Given the description of an element on the screen output the (x, y) to click on. 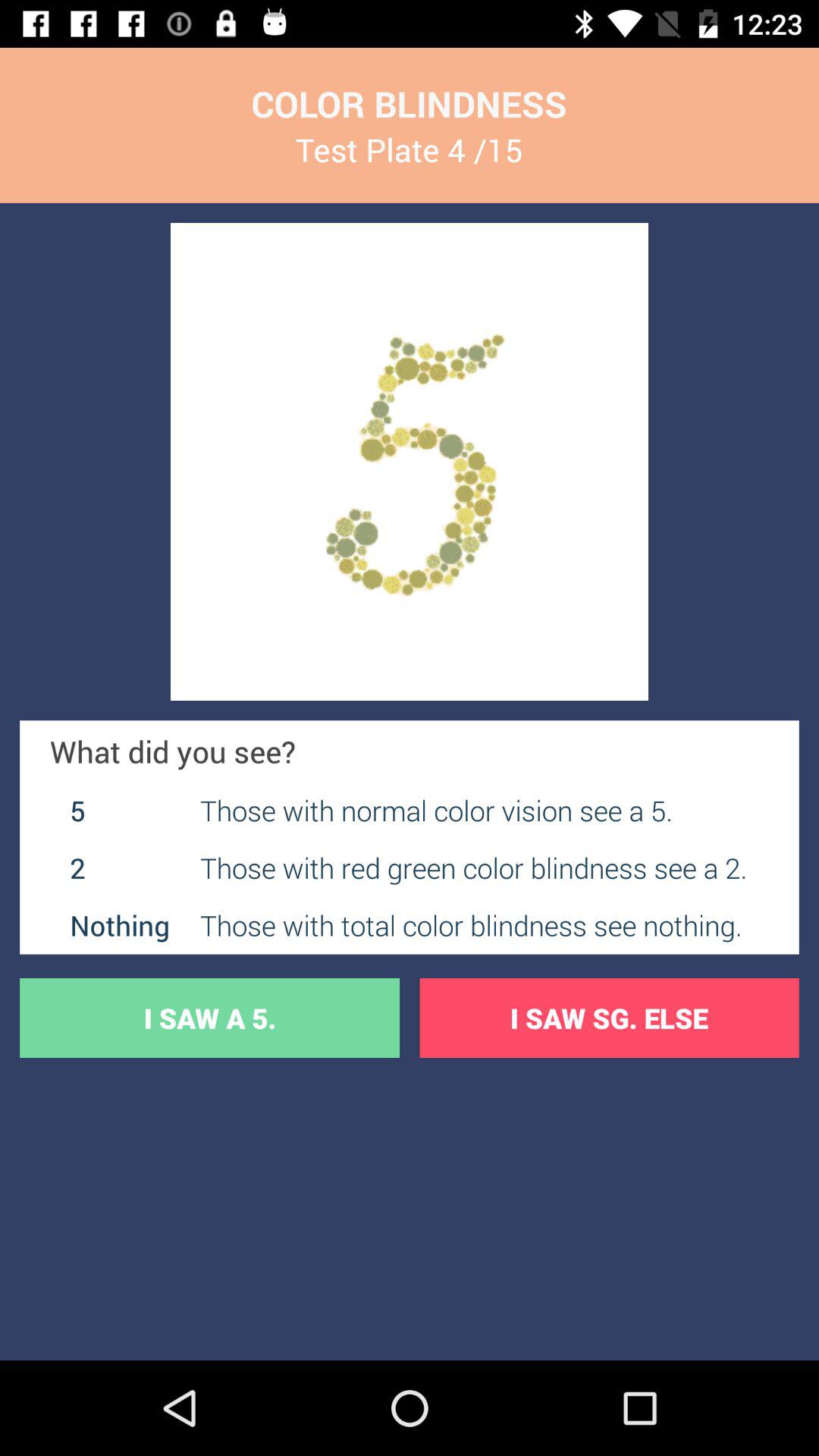
turn on the app above the what did you app (409, 461)
